Given the description of an element on the screen output the (x, y) to click on. 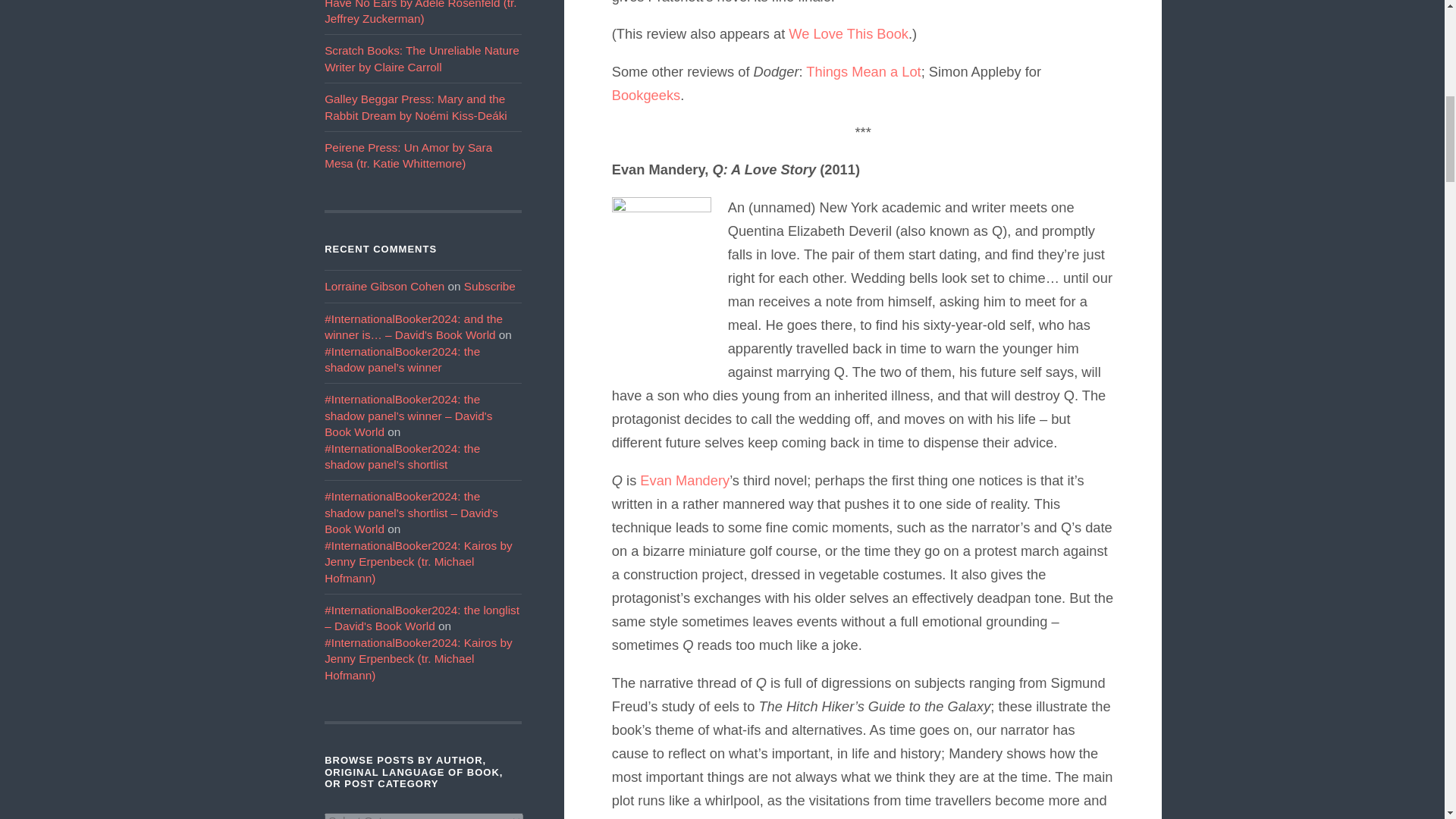
Subscribe (489, 286)
Lorraine Gibson Cohen (384, 286)
